Given the description of an element on the screen output the (x, y) to click on. 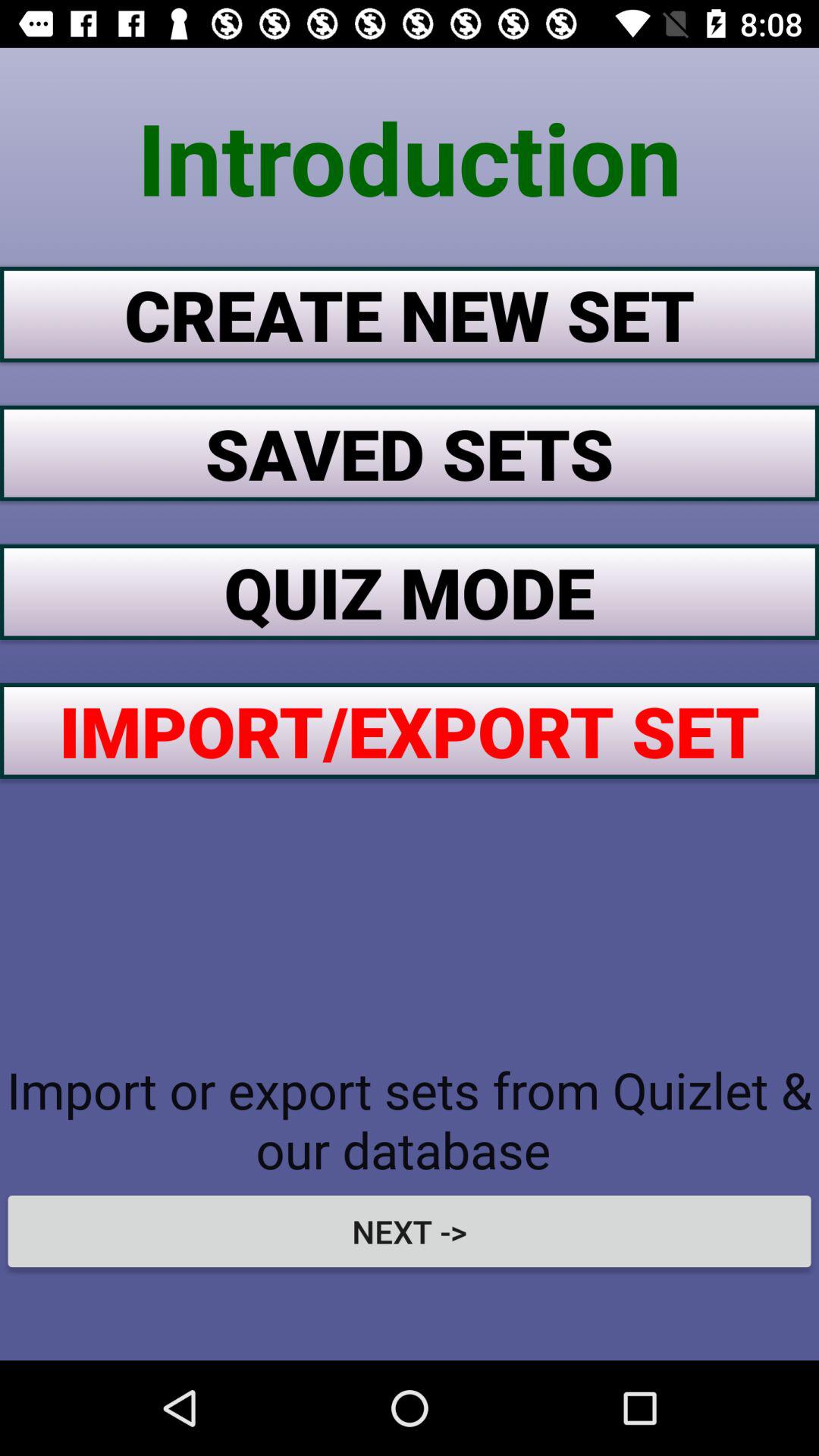
click item below saved sets icon (409, 591)
